Given the description of an element on the screen output the (x, y) to click on. 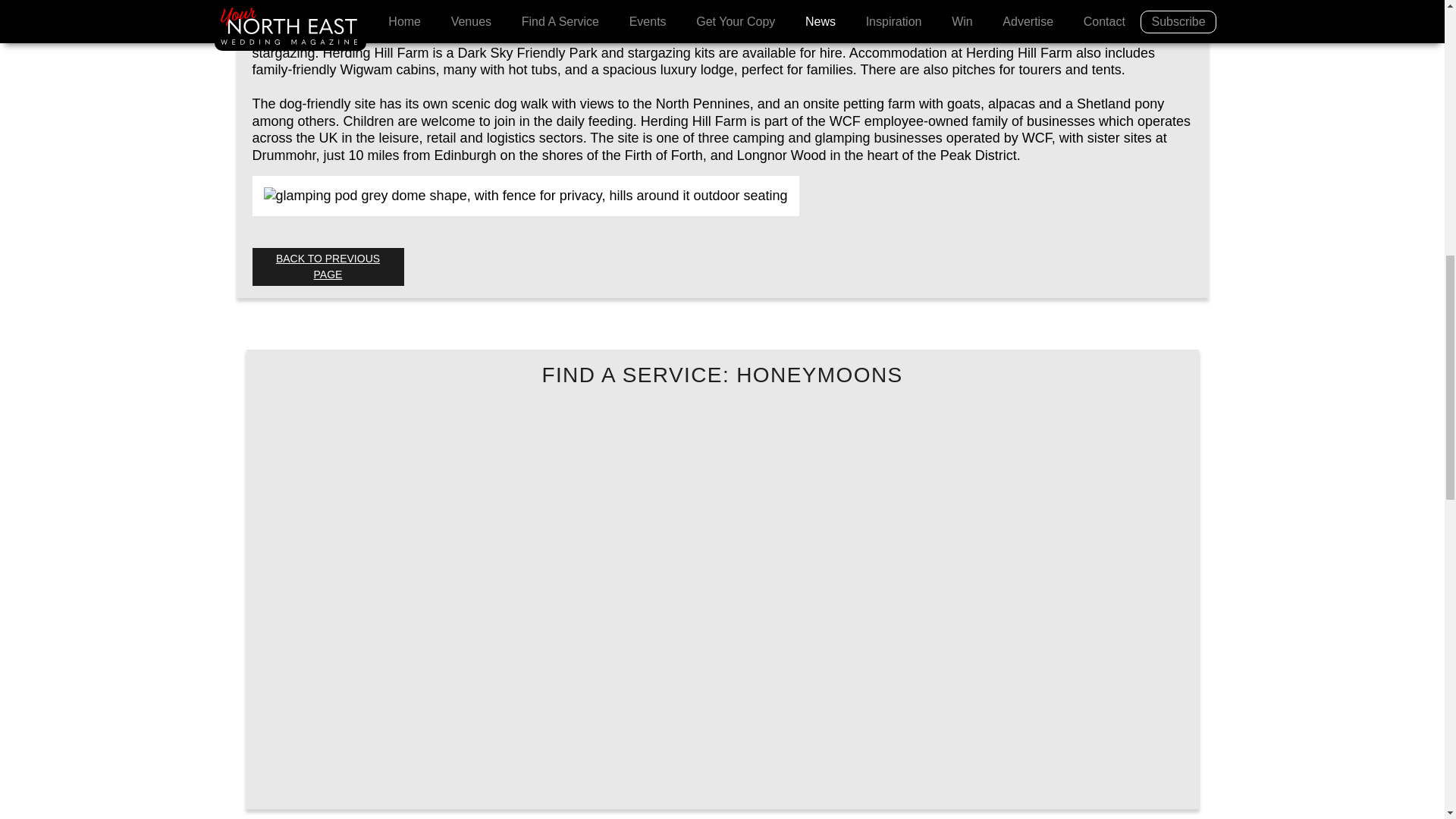
BACK TO PREVIOUS PAGE (327, 266)
FIND A SERVICE: HONEYMOONS (721, 374)
Back to previous page (327, 266)
